Given the description of an element on the screen output the (x, y) to click on. 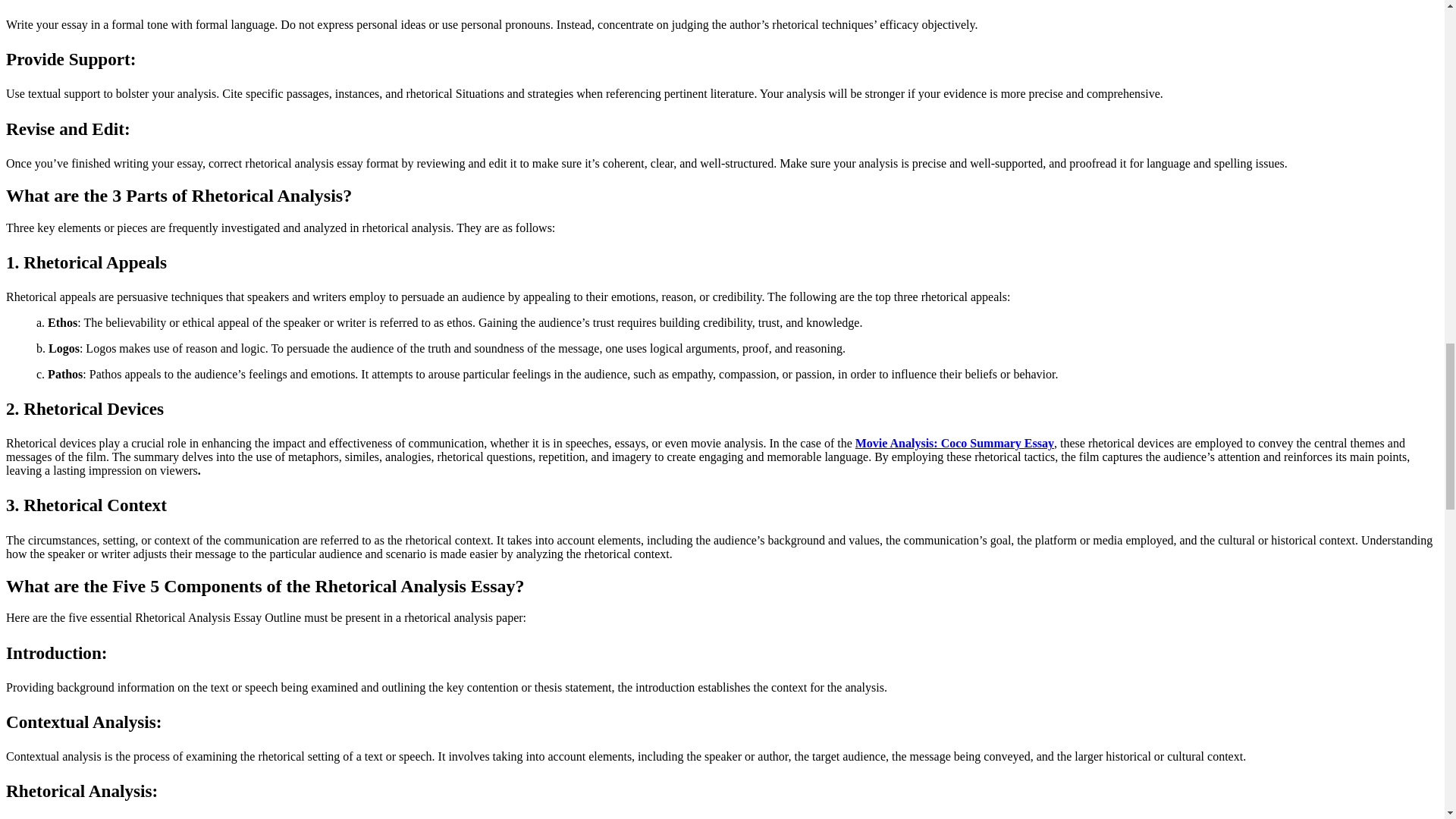
Movie Analysis: Coco Summary Essay (955, 442)
